Given the description of an element on the screen output the (x, y) to click on. 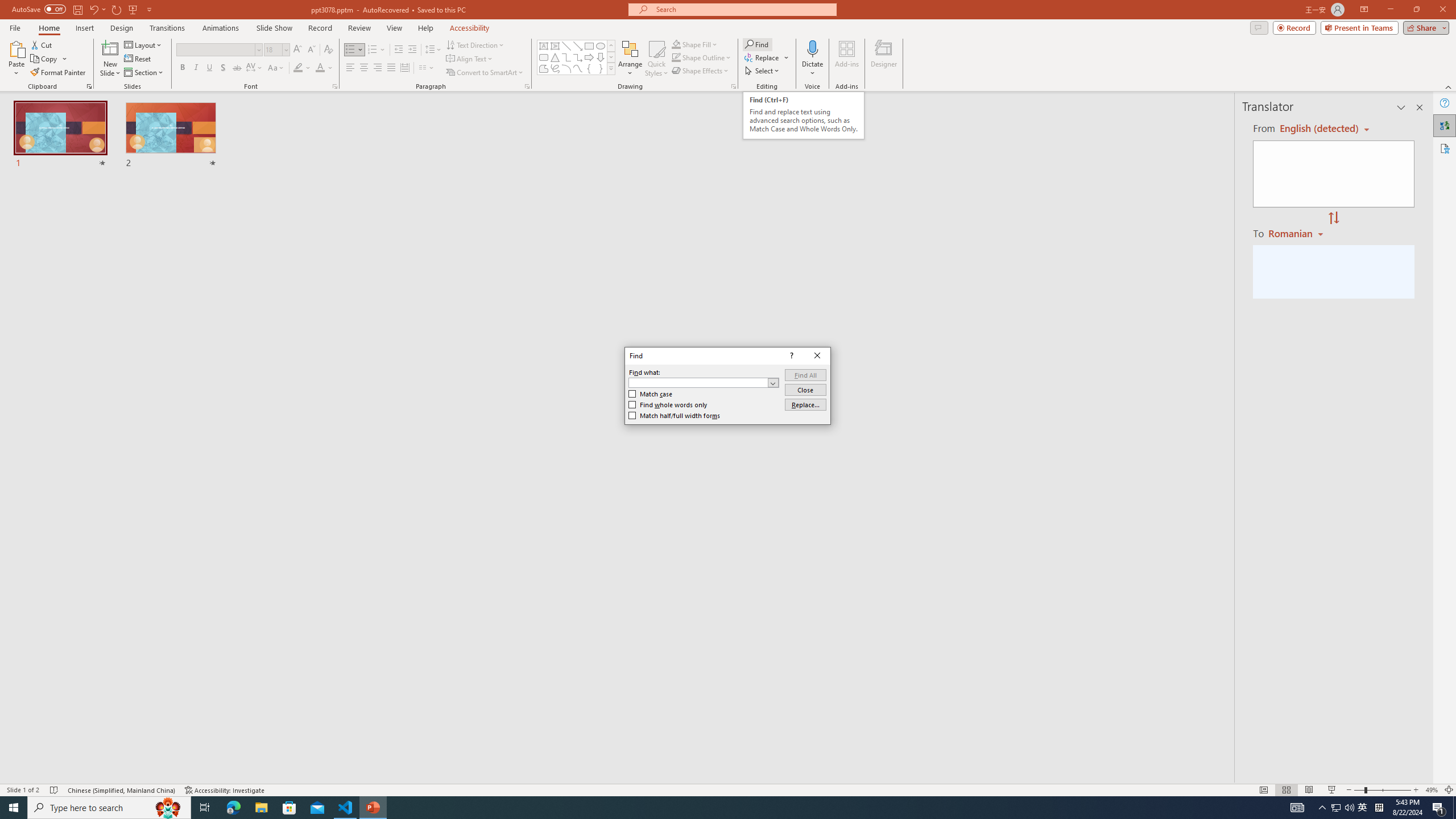
Find All (805, 374)
